Given the description of an element on the screen output the (x, y) to click on. 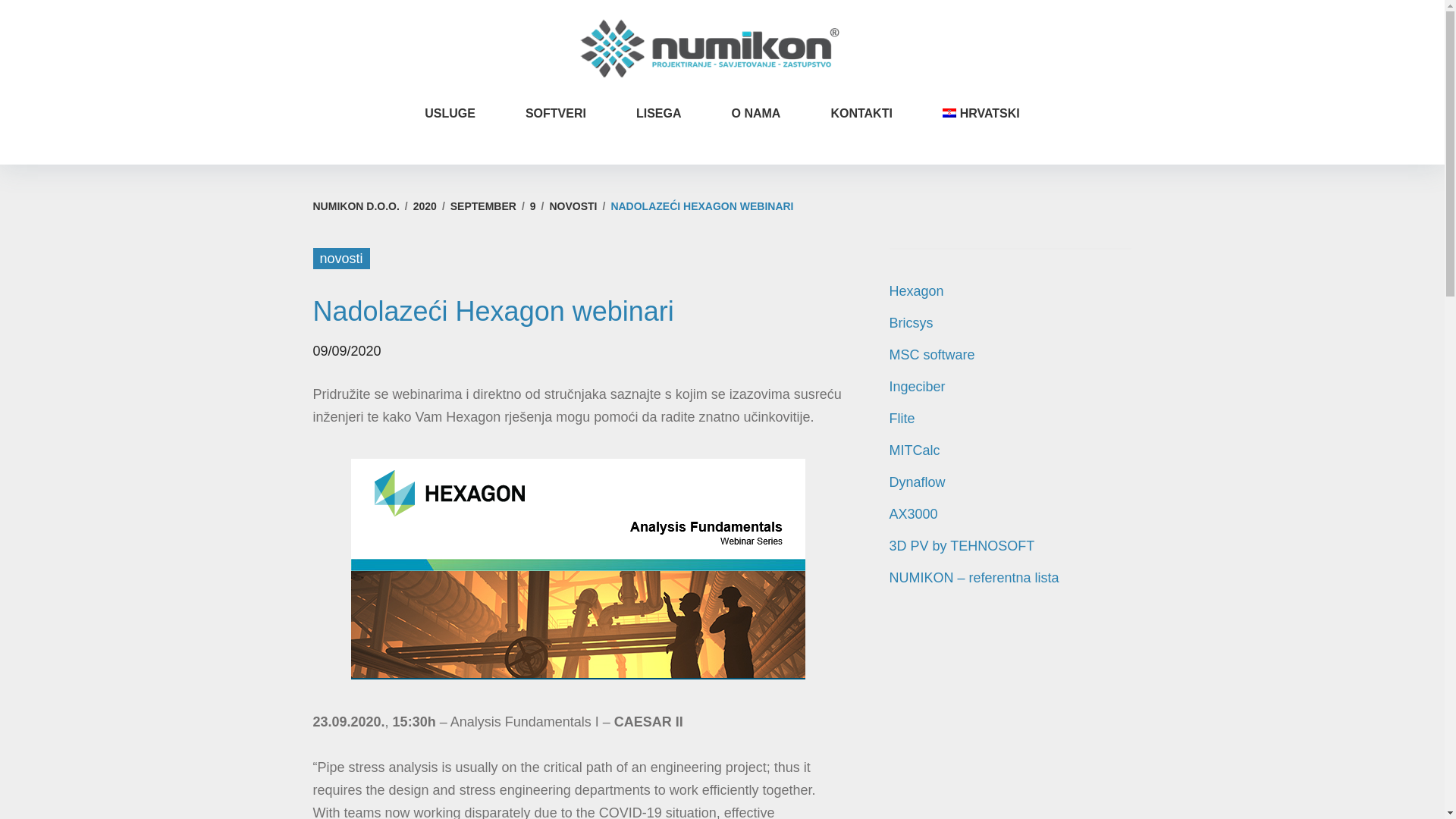
USLUGE (449, 113)
Hexagon (915, 290)
KONTAKTI (860, 113)
NOVOSTI (572, 205)
NUMIKON D.O.O. (355, 205)
2020 (424, 205)
LISEGA (658, 113)
O NAMA (755, 113)
SOFTVERI (556, 113)
SEPTEMBER (482, 205)
USLUGE (449, 113)
HRVATSKI (980, 113)
novosti (341, 258)
